Given the description of an element on the screen output the (x, y) to click on. 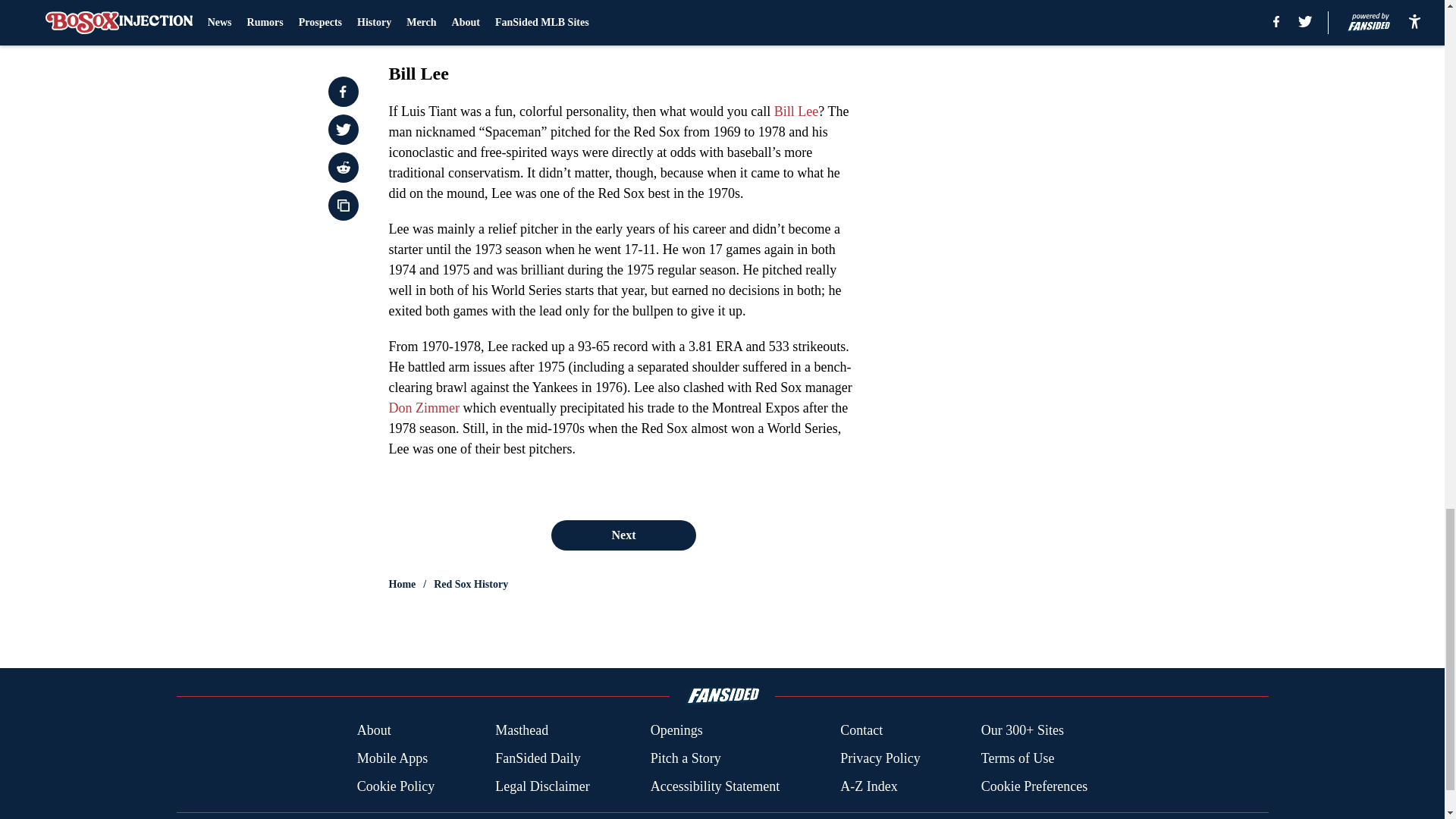
Next (622, 535)
Masthead (521, 730)
Don Zimmer (423, 407)
Contact (861, 730)
Openings (676, 730)
Home (401, 584)
FanSided Daily (537, 758)
Legal Disclaimer (542, 786)
Privacy Policy (880, 758)
Red Sox History (470, 584)
